Given the description of an element on the screen output the (x, y) to click on. 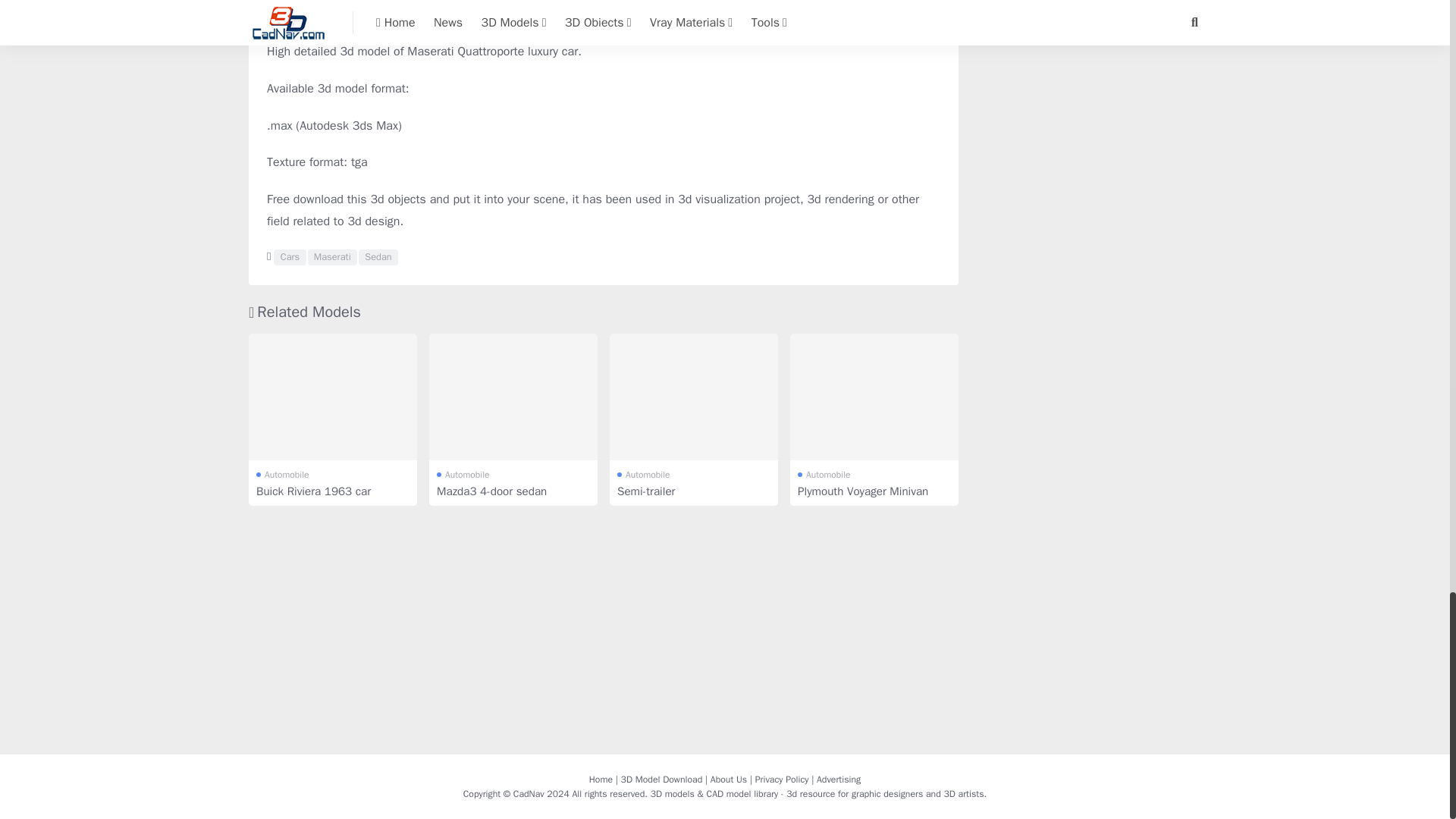
Buick Riviera 1963 car 3d model download (332, 396)
Semi-trailer 3d model download (693, 396)
Advertisement (603, 12)
Maserati 3d model (331, 257)
Plymouth Voyager Minivan 3d model download (874, 396)
Cars 3d model (289, 257)
Sedan 3d model (377, 257)
Mazda3 4-door sedan 3d model download (512, 396)
